Given the description of an element on the screen output the (x, y) to click on. 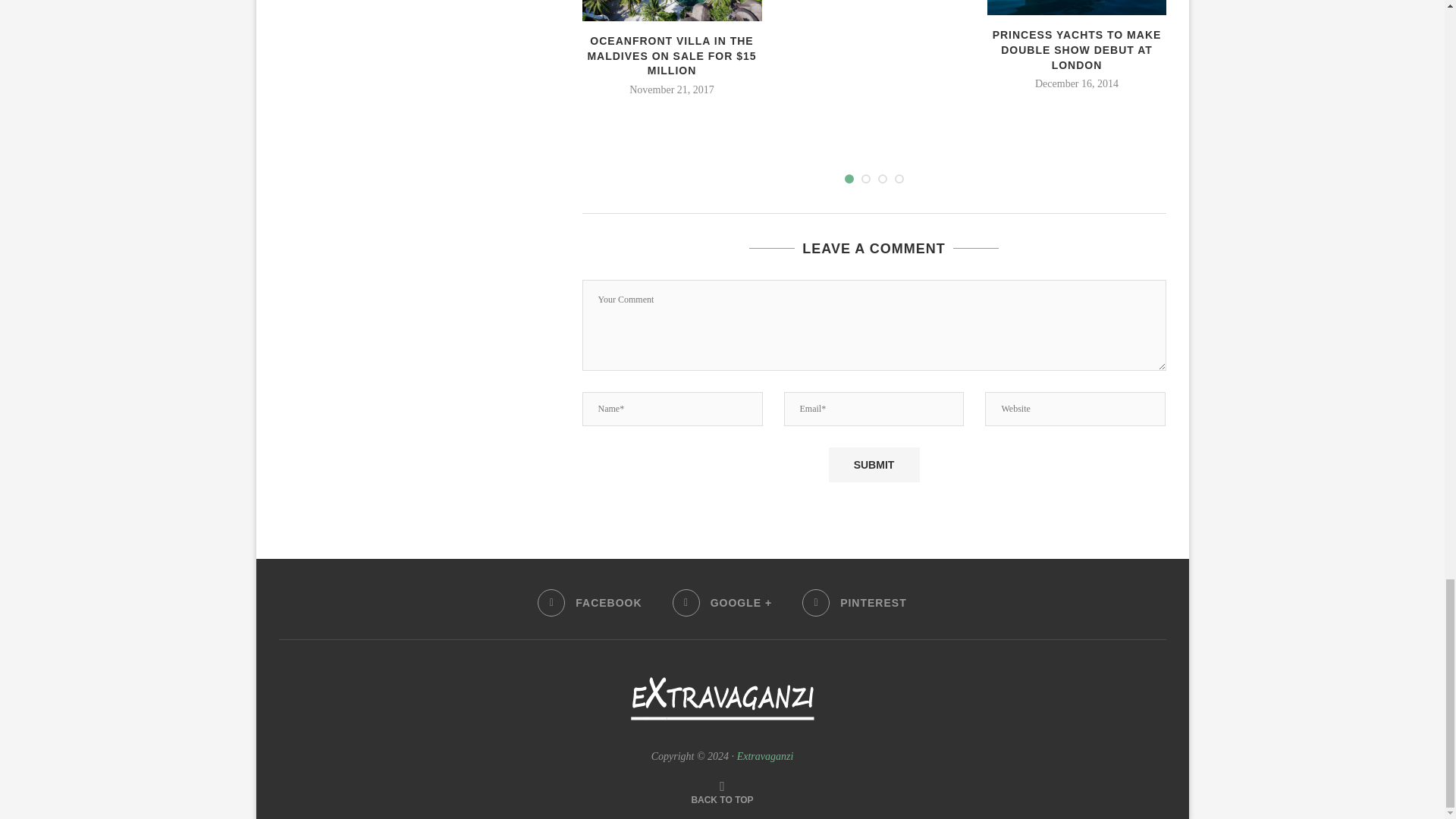
Submit (873, 464)
